Given the description of an element on the screen output the (x, y) to click on. 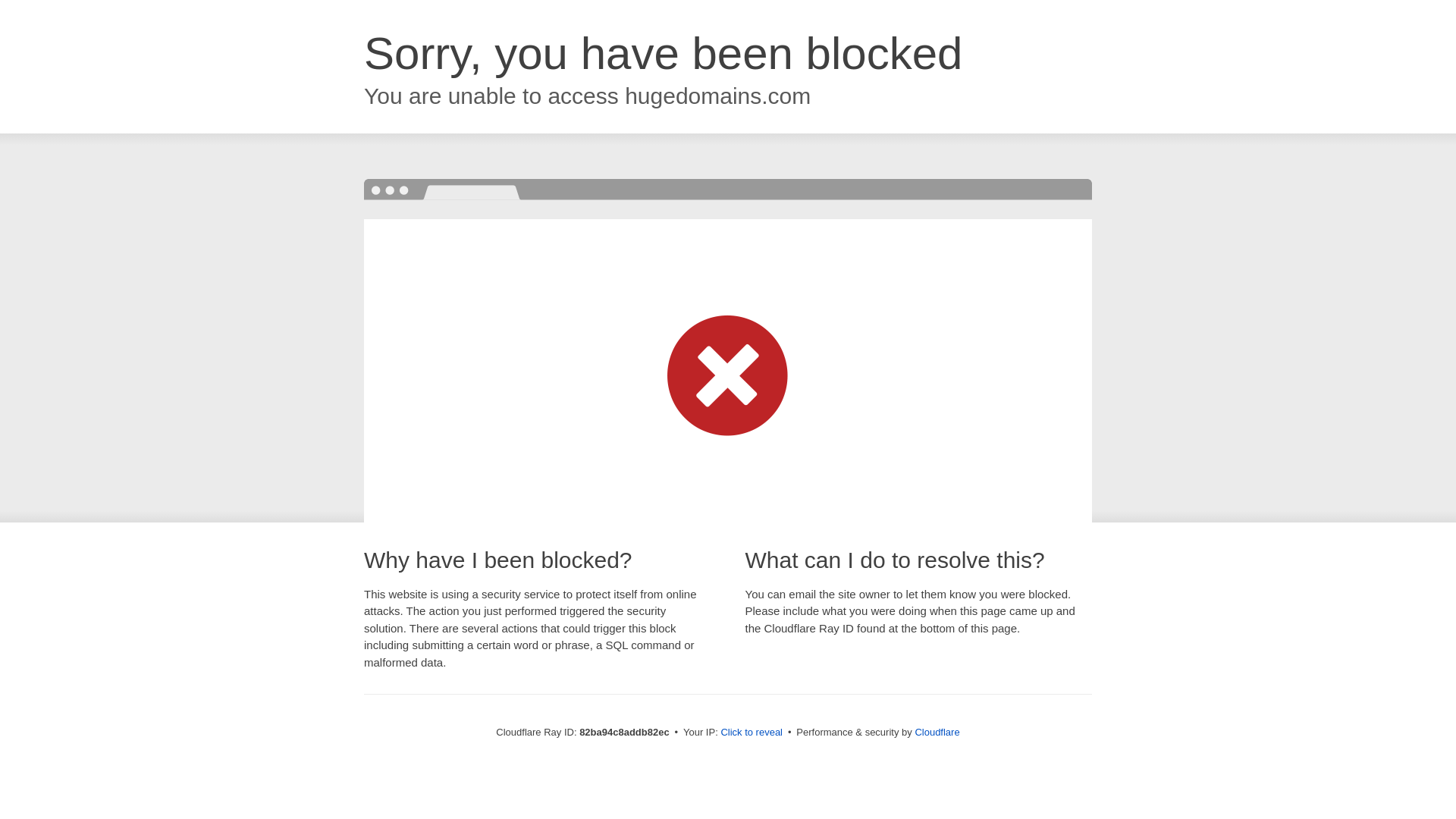
Cloudflare Element type: text (936, 731)
Click to reveal Element type: text (751, 732)
